Given the description of an element on the screen output the (x, y) to click on. 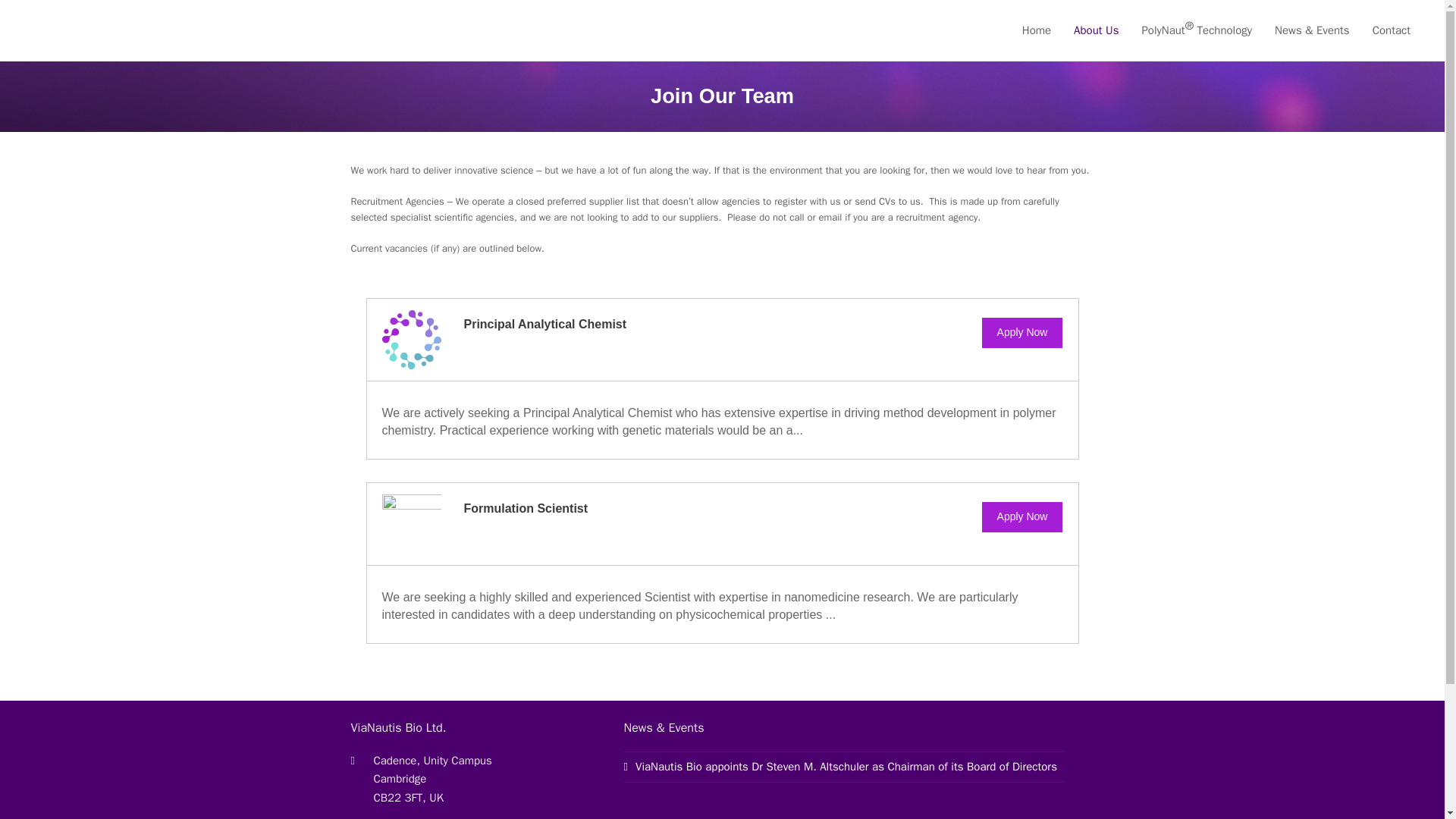
Formulation Scientist (526, 508)
Apply Now (1021, 517)
Apply Now (1021, 332)
Contact (1391, 30)
Principal Analytical Chemist (545, 323)
About Us (1095, 30)
